Given the description of an element on the screen output the (x, y) to click on. 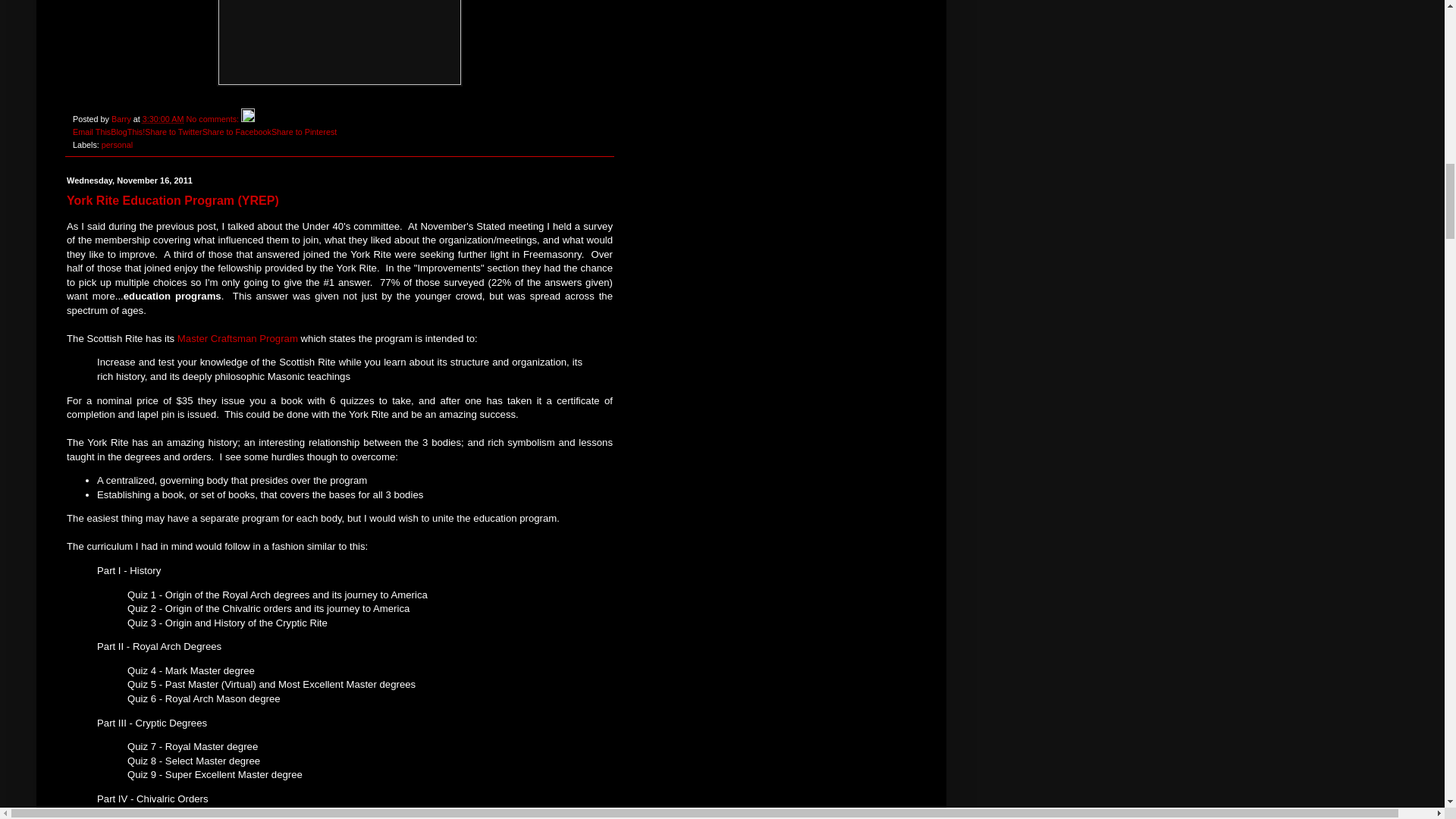
Barry (122, 118)
3:30:00 AM (163, 118)
